Given the description of an element on the screen output the (x, y) to click on. 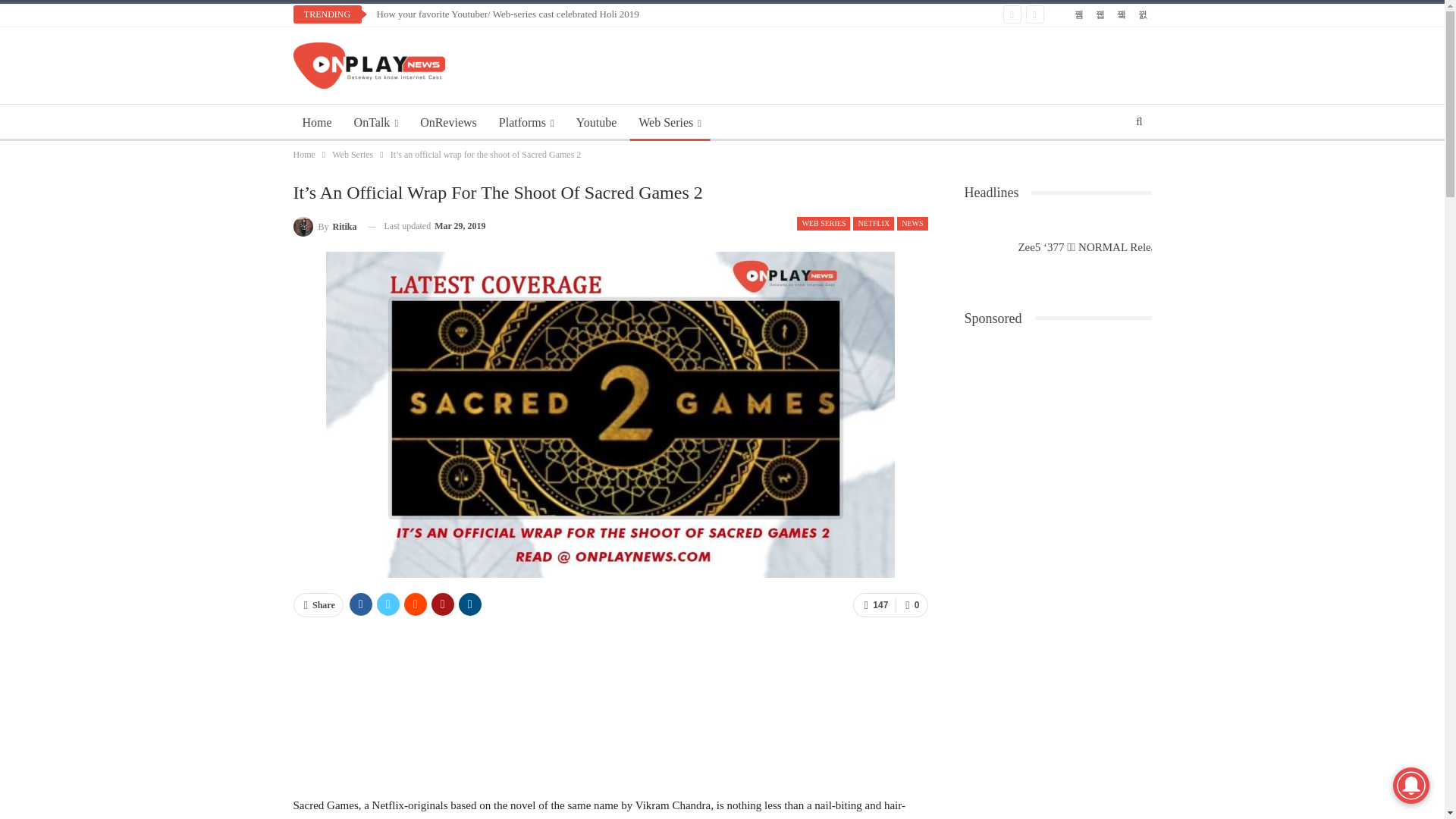
Youtube (596, 122)
Home (316, 122)
Platforms (526, 122)
OnTalk (376, 122)
Advertisement (609, 705)
OnReviews (448, 122)
Browse Author Articles (324, 226)
